Given the description of an element on the screen output the (x, y) to click on. 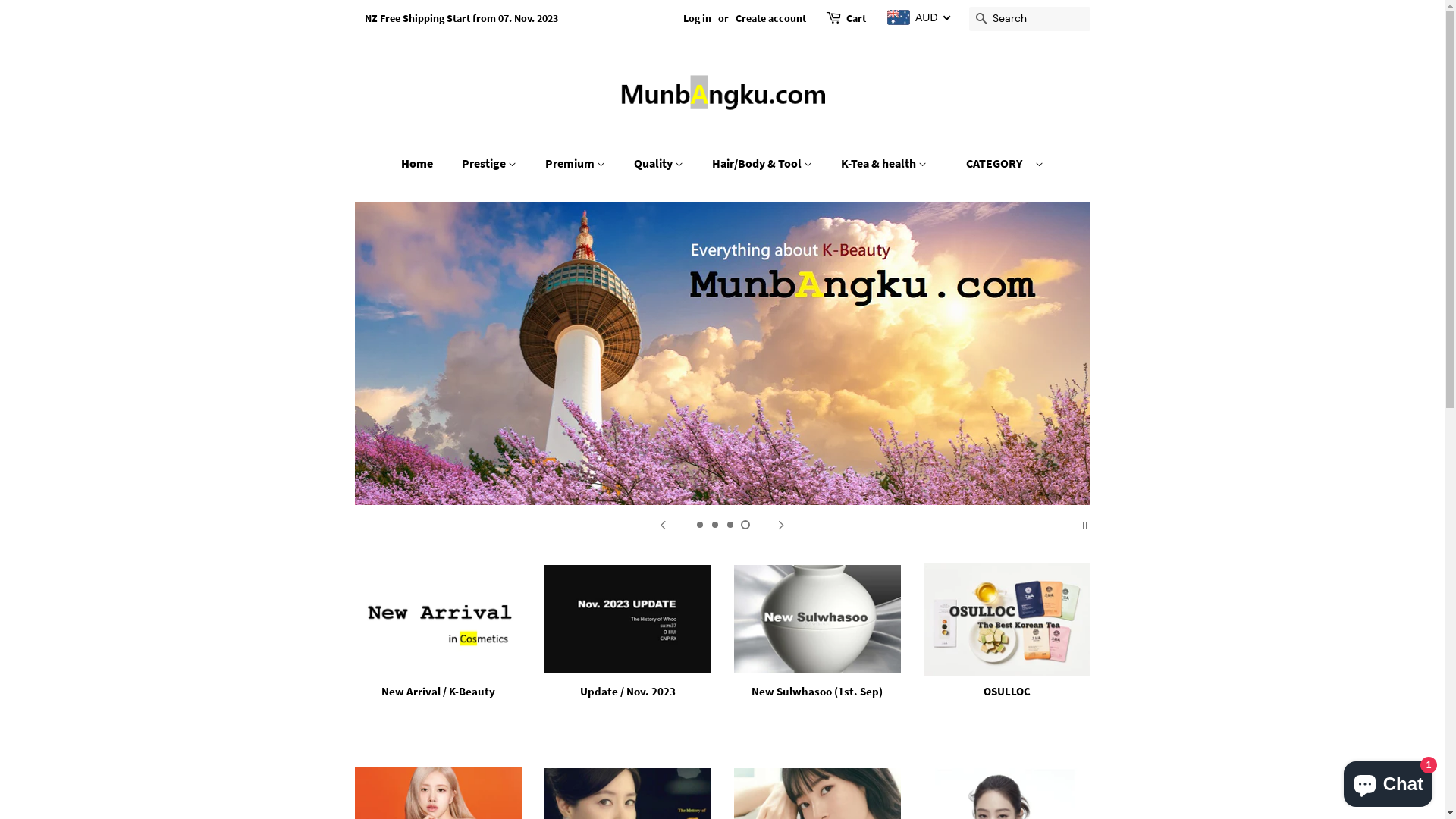
Create account Element type: text (770, 18)
1 Element type: text (698, 524)
Cart Element type: text (856, 18)
Premium Element type: text (576, 162)
Search Element type: text (981, 18)
New Arrival / K-Beauty Element type: text (437, 644)
Quality Element type: text (660, 162)
Hair/Body & Tool Element type: text (763, 162)
3 Element type: text (729, 524)
2 Element type: text (713, 524)
Prestige Element type: text (490, 162)
4 Element type: text (744, 524)
Shopify online store chat Element type: hover (1388, 780)
OSULLOC Element type: text (1006, 644)
K-Tea & health Element type: text (885, 162)
Update / Nov. 2023 Element type: text (627, 644)
Log in Element type: text (697, 18)
New Sulwhasoo (1st. Sep) Element type: text (817, 644)
Home Element type: text (424, 162)
